Given the description of an element on the screen output the (x, y) to click on. 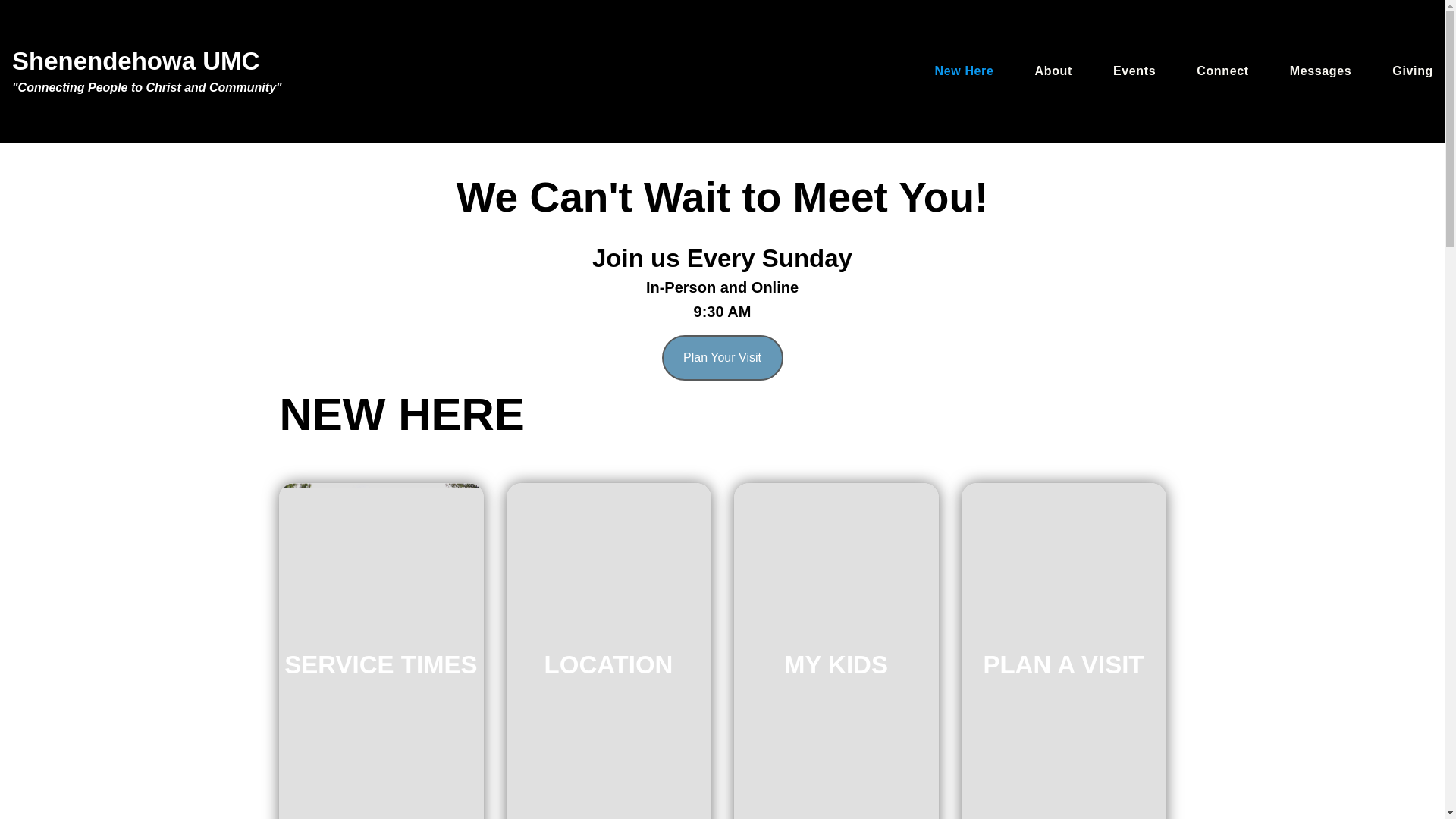
New Here (963, 70)
Plan Your Visit (722, 357)
Giving (1411, 70)
Shenendehowa UMC (135, 60)
About (1053, 70)
Messages (1321, 70)
Connect (1221, 70)
Events (1134, 70)
